Given the description of an element on the screen output the (x, y) to click on. 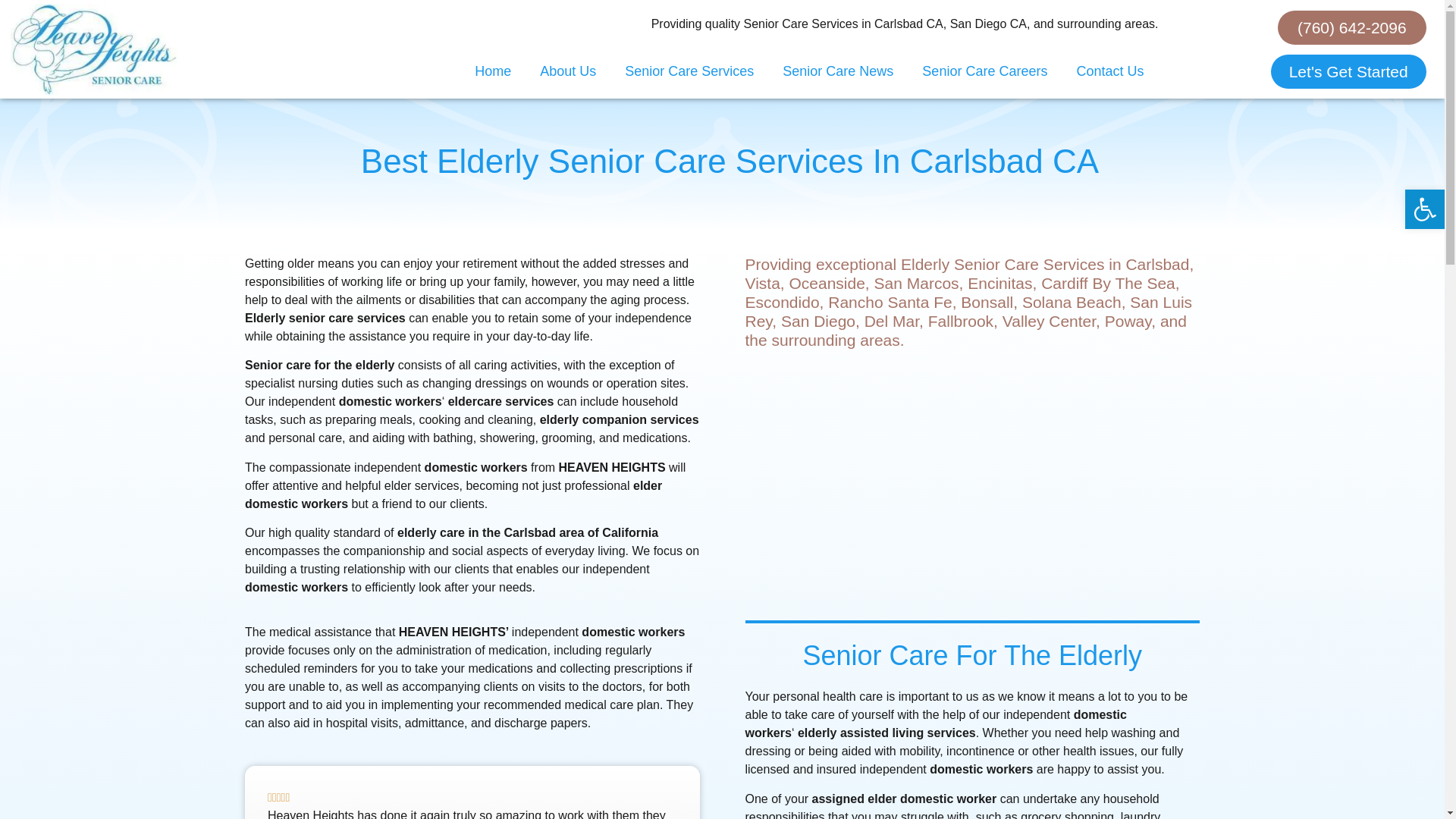
Contact Us (1109, 70)
Senior Care Careers (984, 70)
Senior Care News (837, 70)
About Us (567, 70)
Let's Get Started (1348, 71)
Home (492, 70)
Senior Care Services (689, 70)
Accessibility Tools (1424, 209)
